Given the description of an element on the screen output the (x, y) to click on. 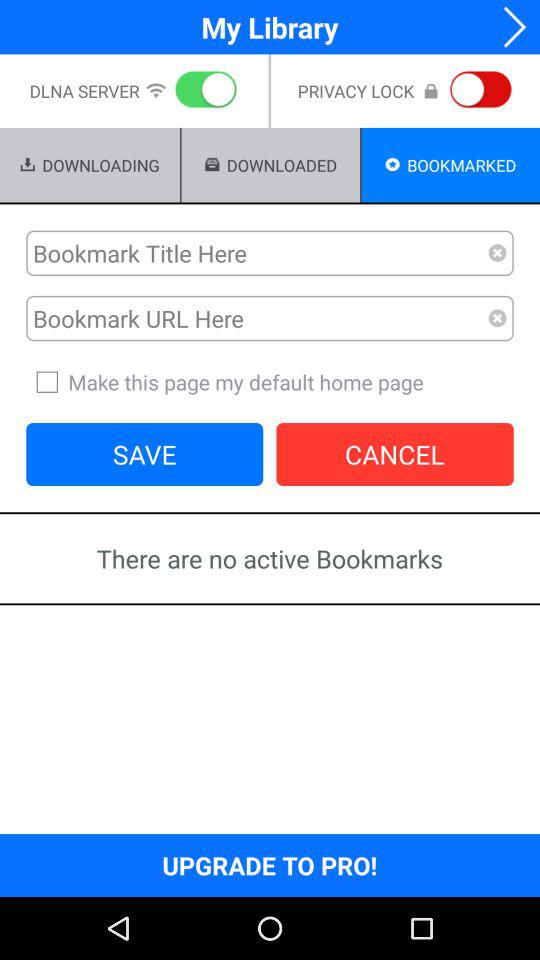
toggle dnla server (202, 91)
